Given the description of an element on the screen output the (x, y) to click on. 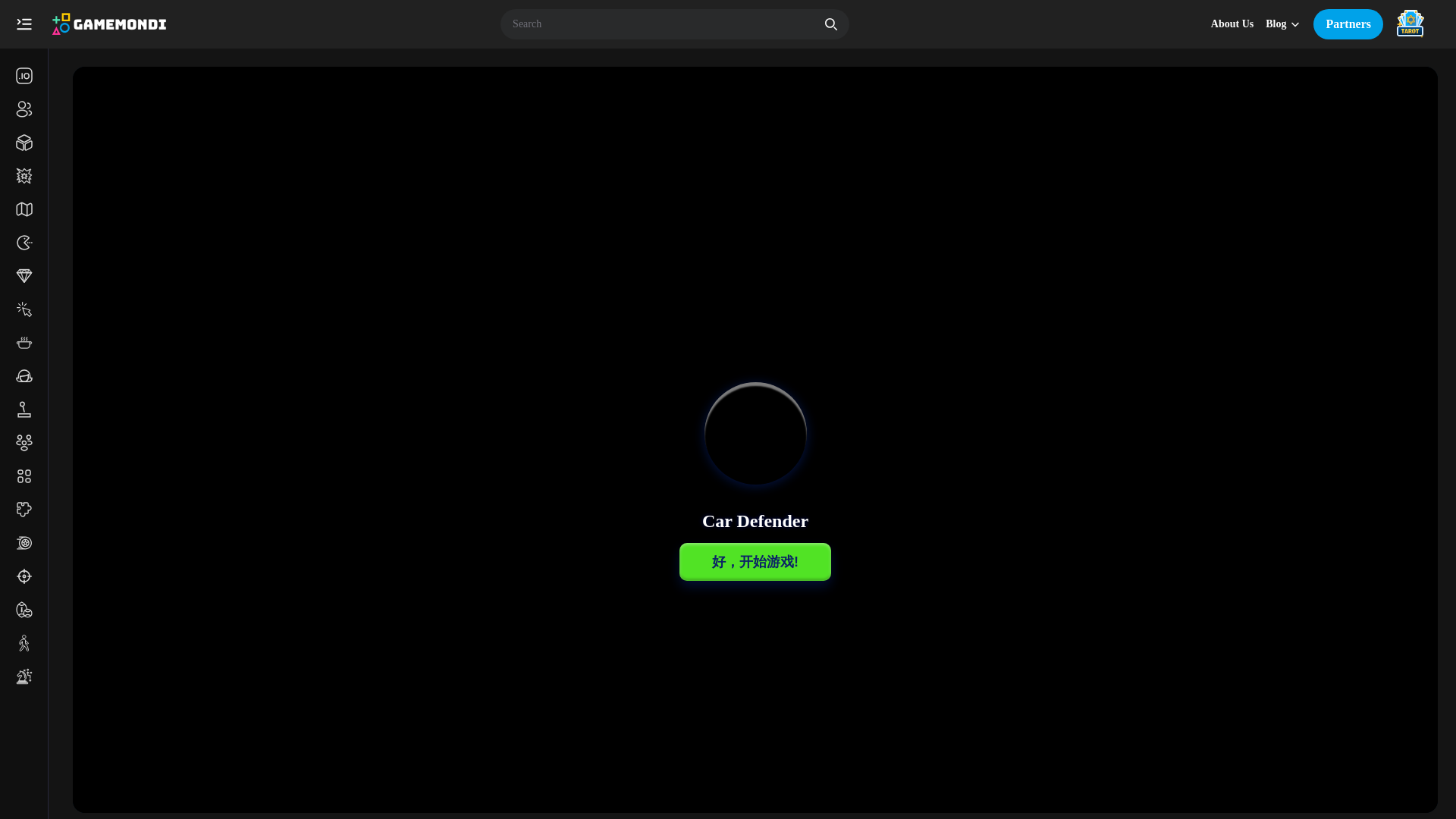
Blog (1283, 23)
Partners (1348, 24)
About Us (1232, 23)
